Given the description of an element on the screen output the (x, y) to click on. 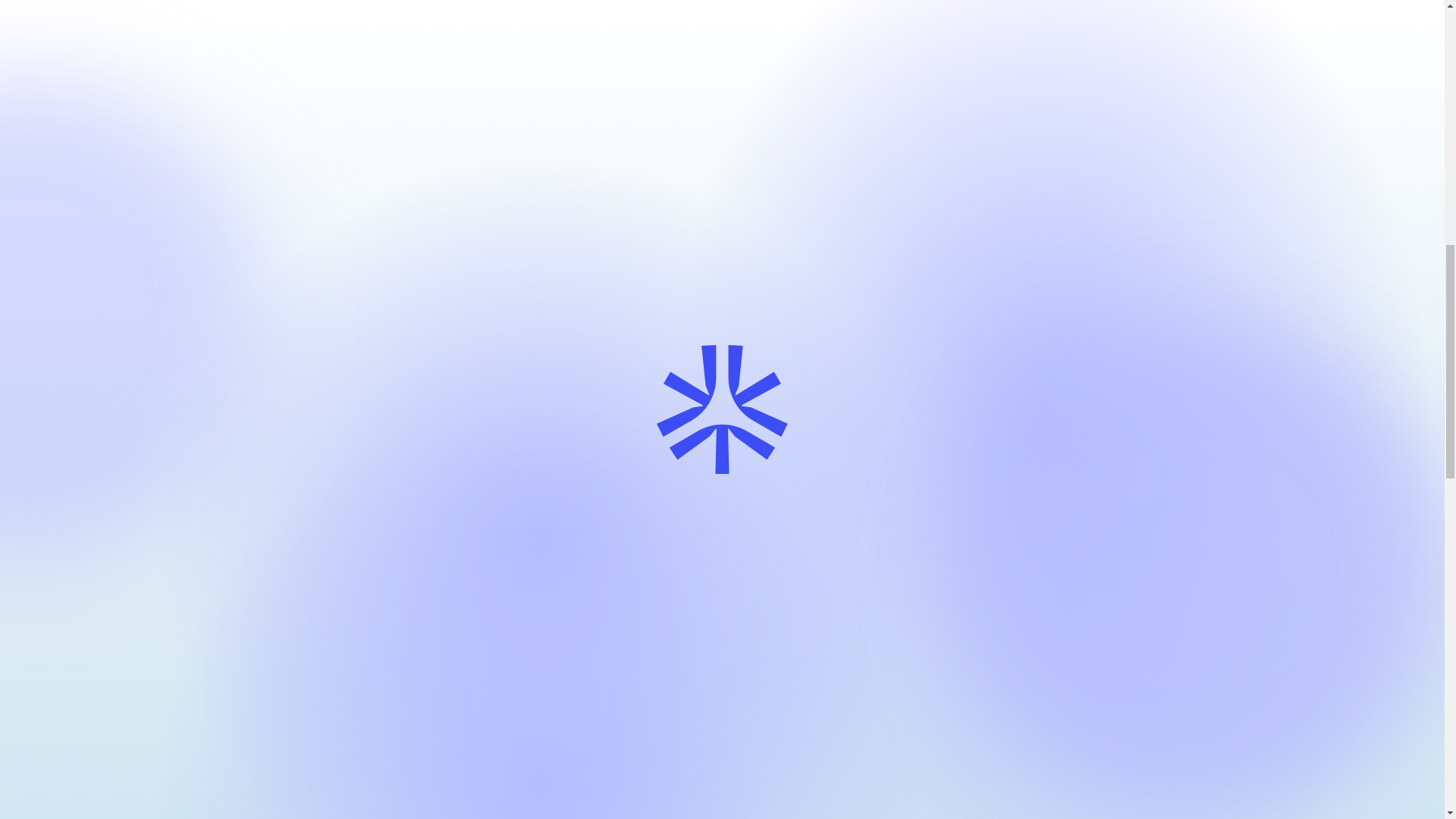
Share on Facebook (269, 372)
Why Am I Here? (358, 663)
Jesus is Surely Coming (358, 663)
The Mighty, Miraculous, Overwhelming, Prevailing Love Of God (601, 663)
Share on LinkedIn (843, 672)
SCRIPTURE STUDY (375, 371)
Our Present Suffering and Our Future Glory (667, 369)
Share on X (1085, 672)
